Given the description of an element on the screen output the (x, y) to click on. 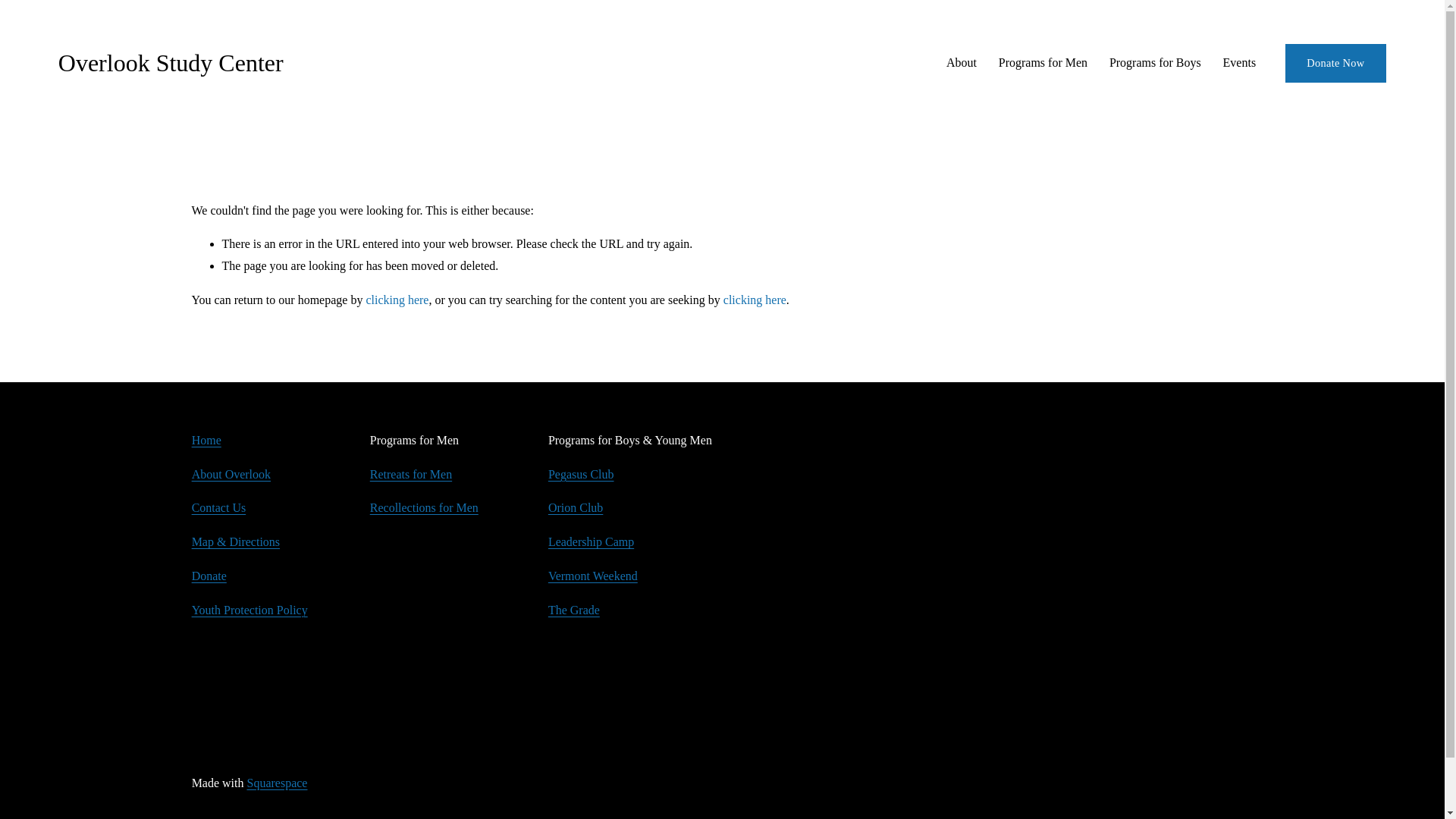
Overlook Study Center (170, 62)
Donate Now (1335, 63)
Events (1239, 62)
Programs for Men (1042, 62)
About (961, 62)
Programs for Boys (1155, 62)
